Given the description of an element on the screen output the (x, y) to click on. 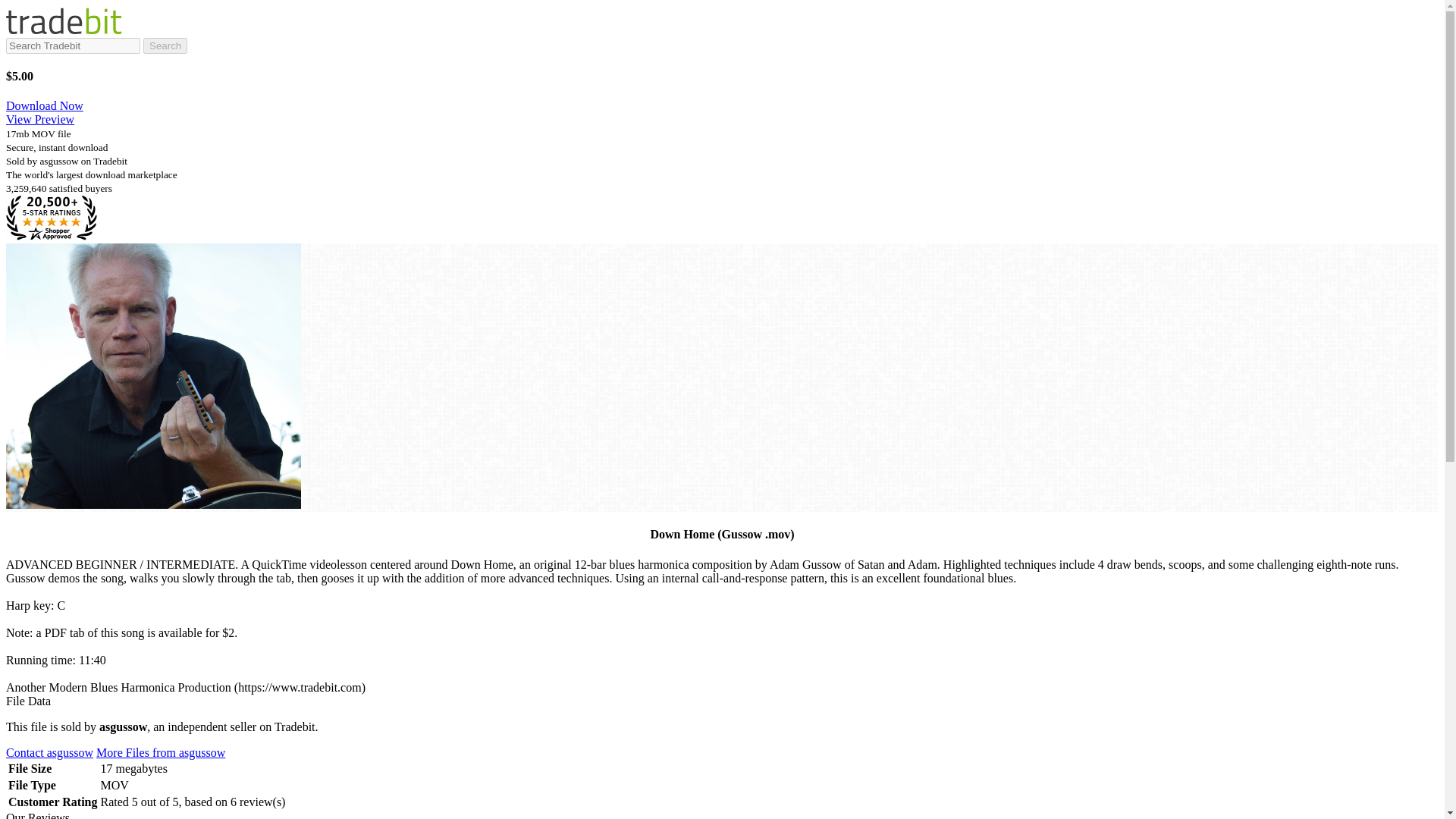
Download Now (43, 105)
Search (164, 45)
Contact asgussow (49, 752)
View Preview (39, 119)
More Files from asgussow (160, 752)
